Given the description of an element on the screen output the (x, y) to click on. 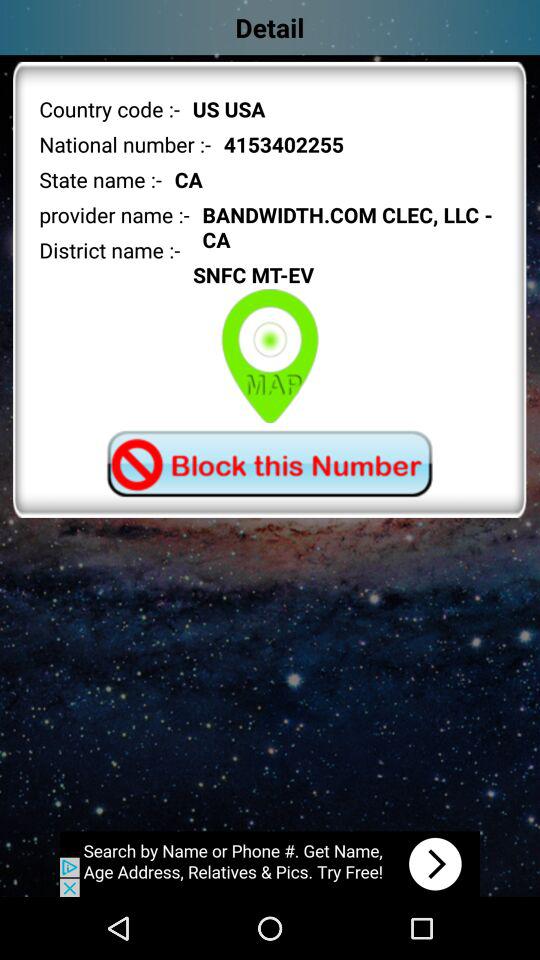
go to block option (269, 463)
